Given the description of an element on the screen output the (x, y) to click on. 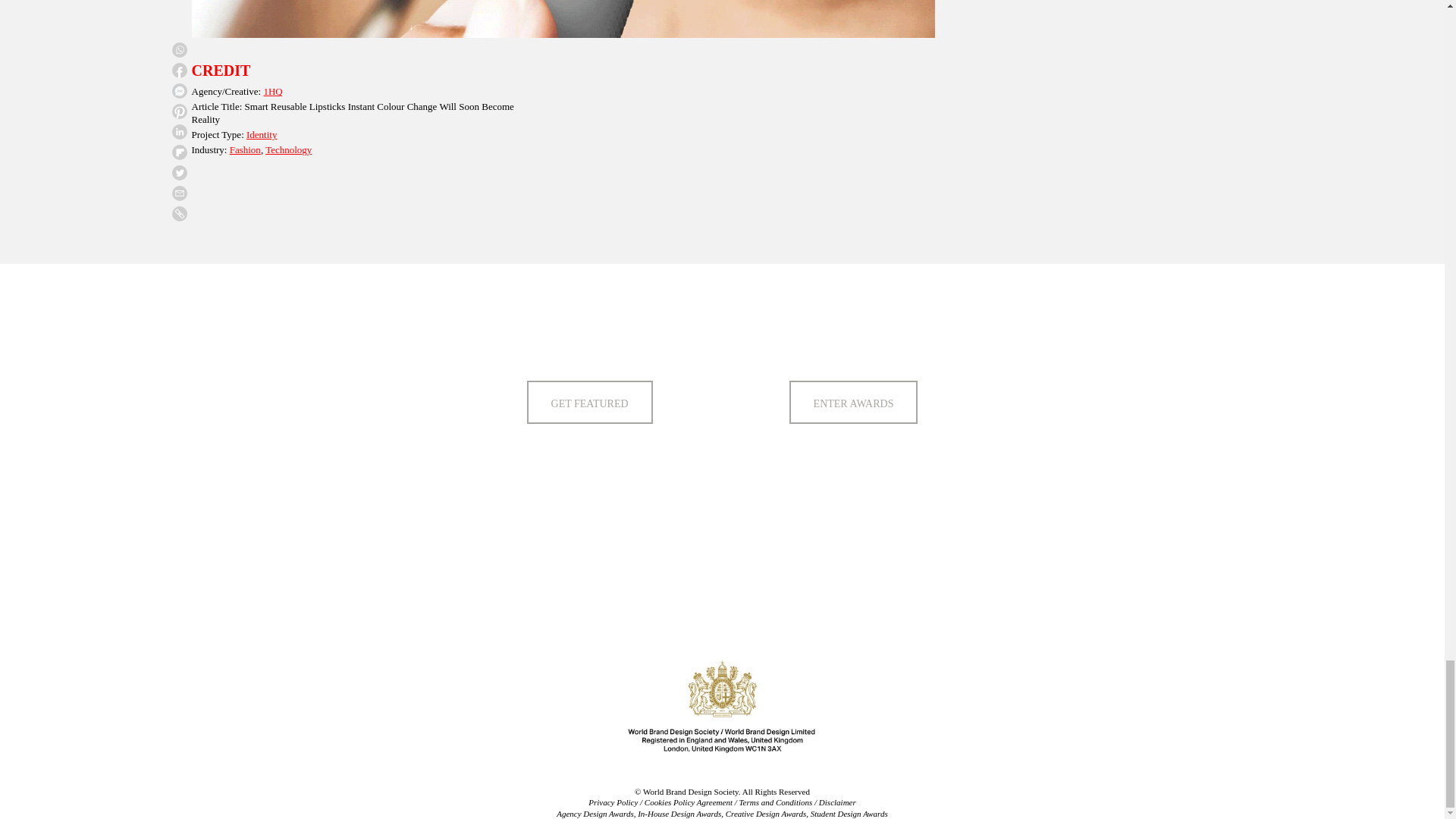
Fashion (245, 149)
Technology (287, 149)
Identity (261, 134)
1HQ (272, 91)
